Given the description of an element on the screen output the (x, y) to click on. 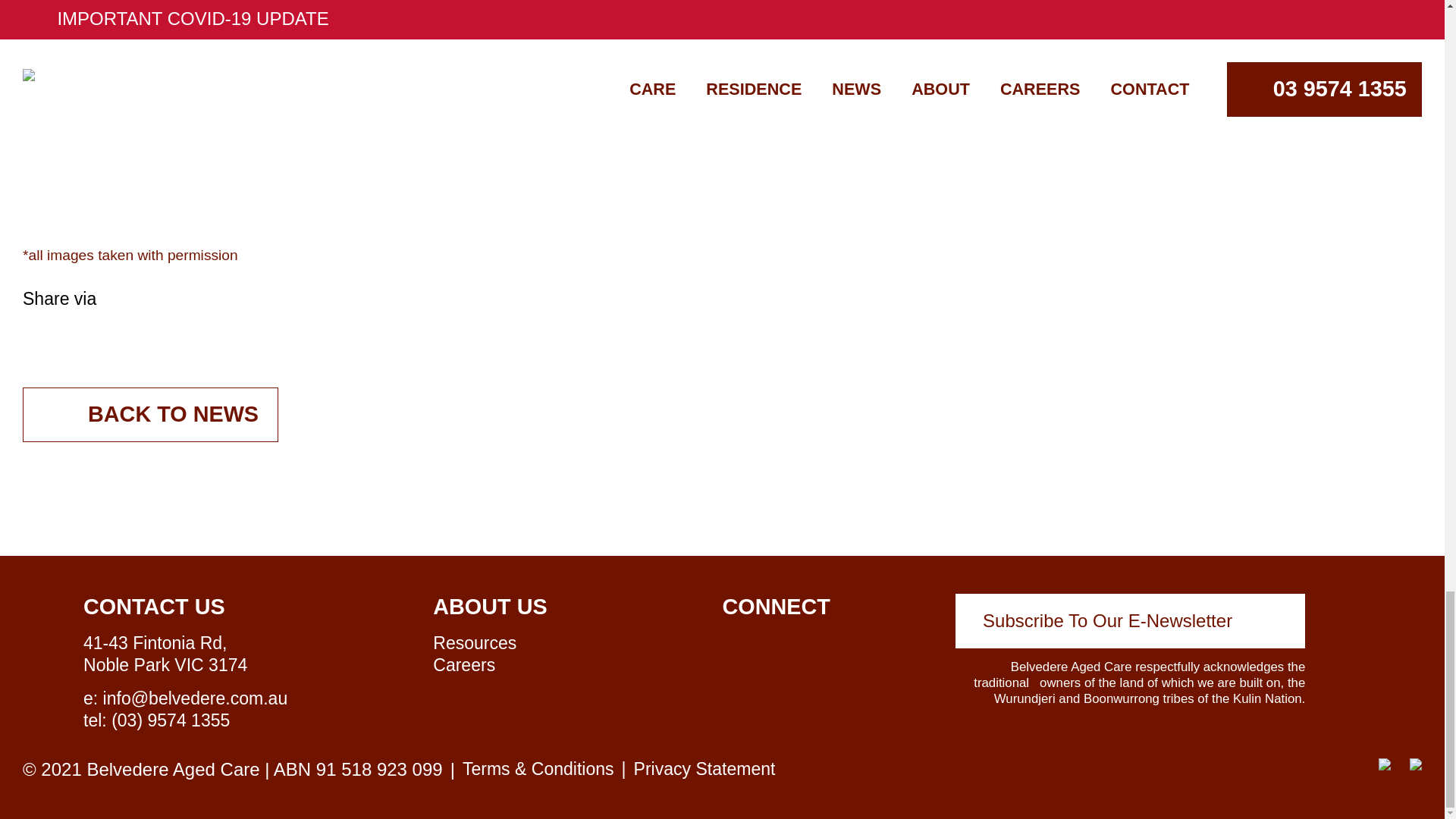
Resources (474, 642)
BACK TO NEWS (150, 414)
Privacy Statement (704, 768)
Careers (463, 664)
